Given the description of an element on the screen output the (x, y) to click on. 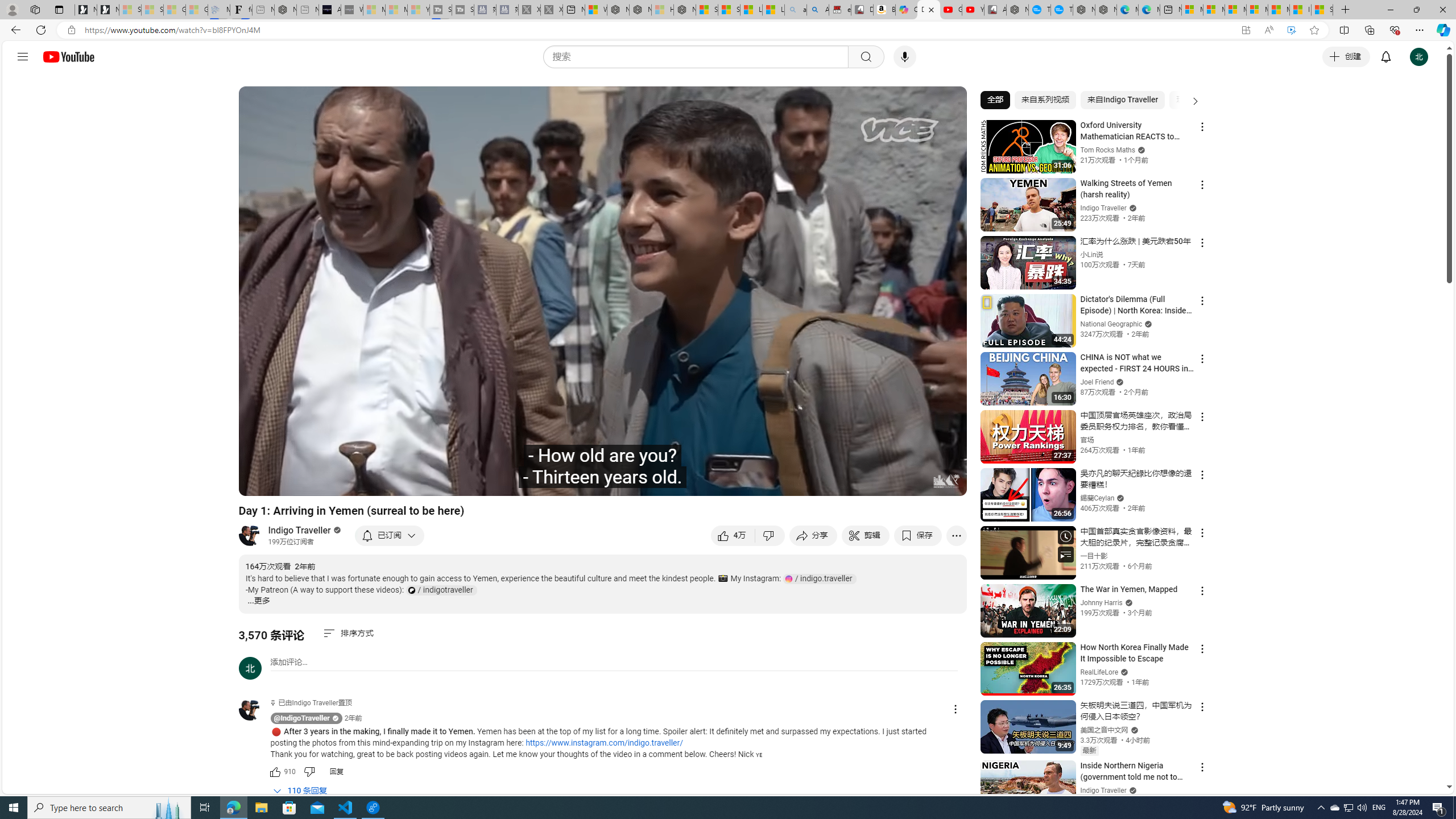
Patreon Channel Link: indigotraveller (441, 590)
Indigo Traveller (299, 530)
I Gained 20 Pounds of Muscle in 30 Days! | Watch (1300, 9)
Newsletter Sign Up (107, 9)
Instagram Channel Link: indigo.traveller (819, 578)
YouTube Kids - An App Created for Kids to Explore Content (972, 9)
